Given the description of an element on the screen output the (x, y) to click on. 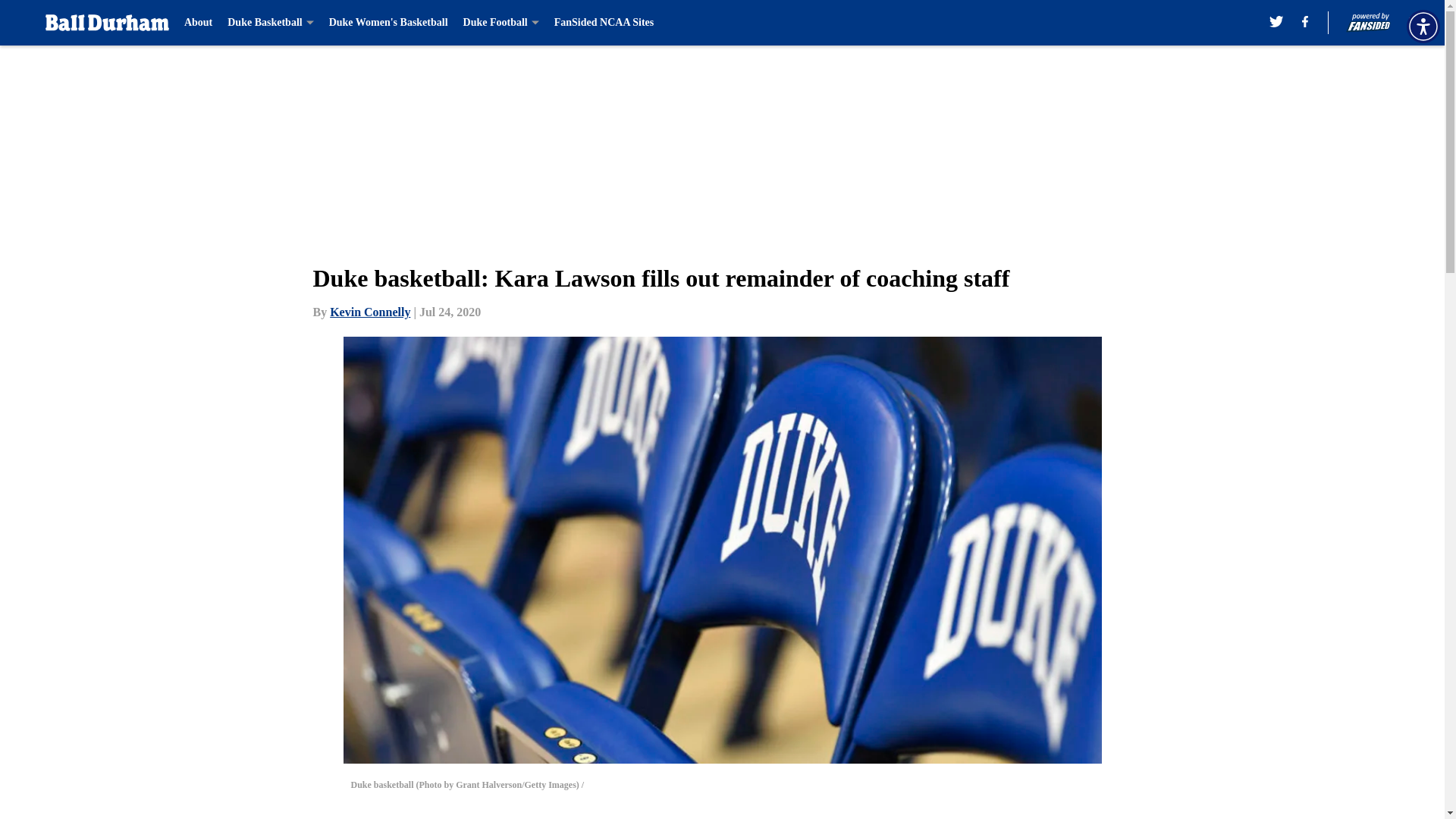
Duke Women's Basketball (388, 22)
Accessibility Menu (1422, 26)
FanSided NCAA Sites (603, 22)
Kevin Connelly (370, 311)
About (198, 22)
